Given the description of an element on the screen output the (x, y) to click on. 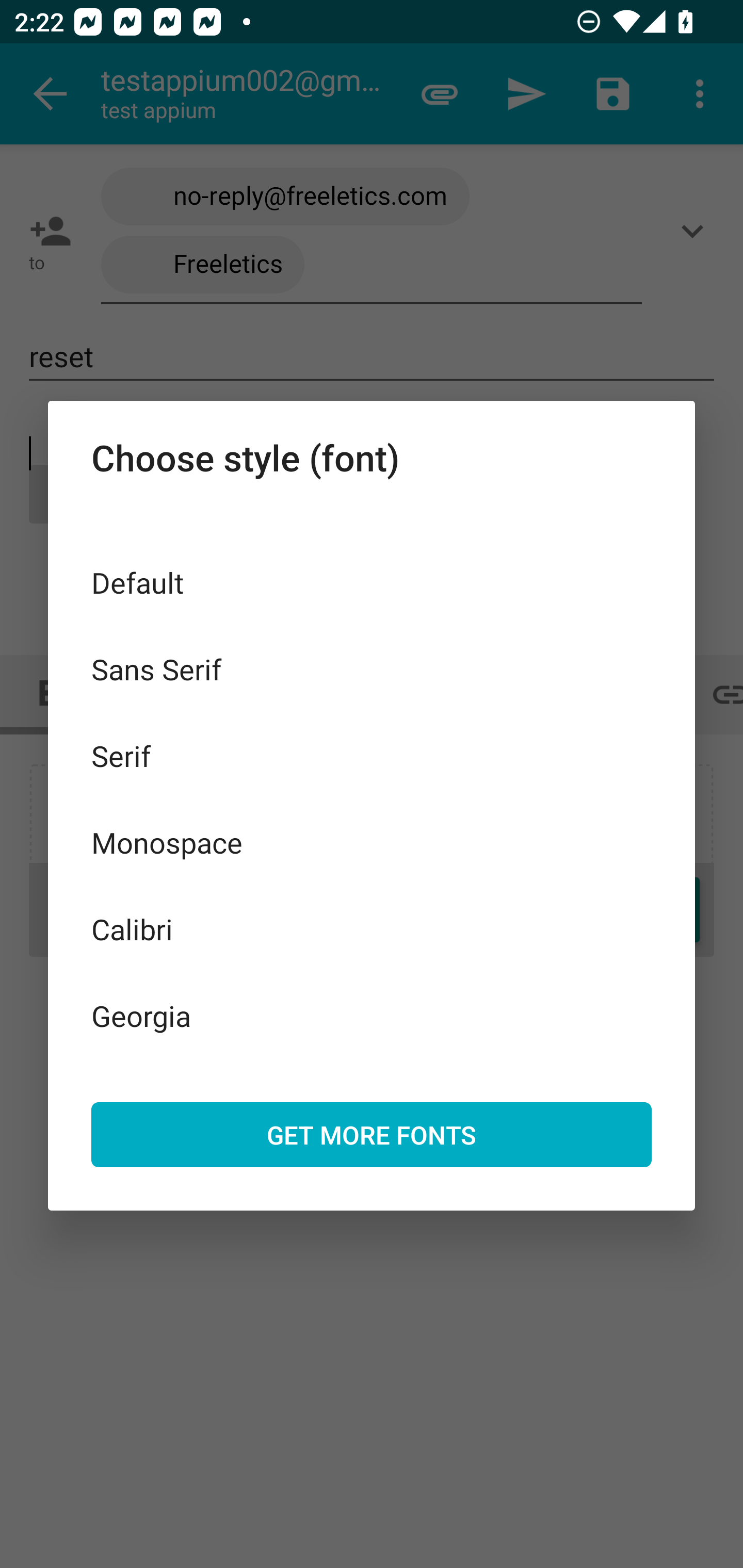
Default (371, 582)
Sans Serif (371, 668)
Serif (371, 755)
Monospace (371, 842)
Calibri (371, 928)
Georgia (371, 1015)
GET MORE FONTS (371, 1134)
